Given the description of an element on the screen output the (x, y) to click on. 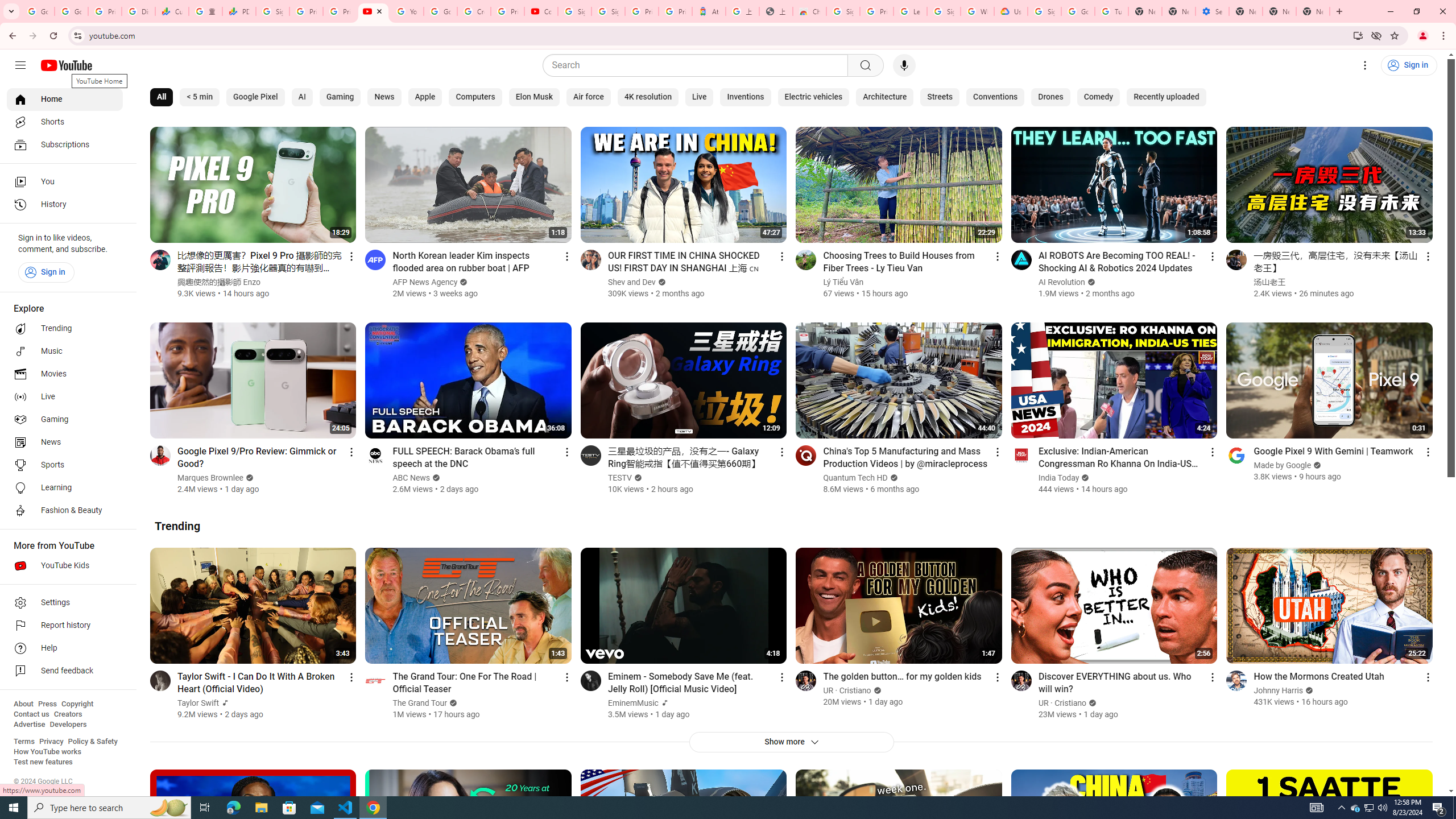
Movies (64, 373)
